Given the description of an element on the screen output the (x, y) to click on. 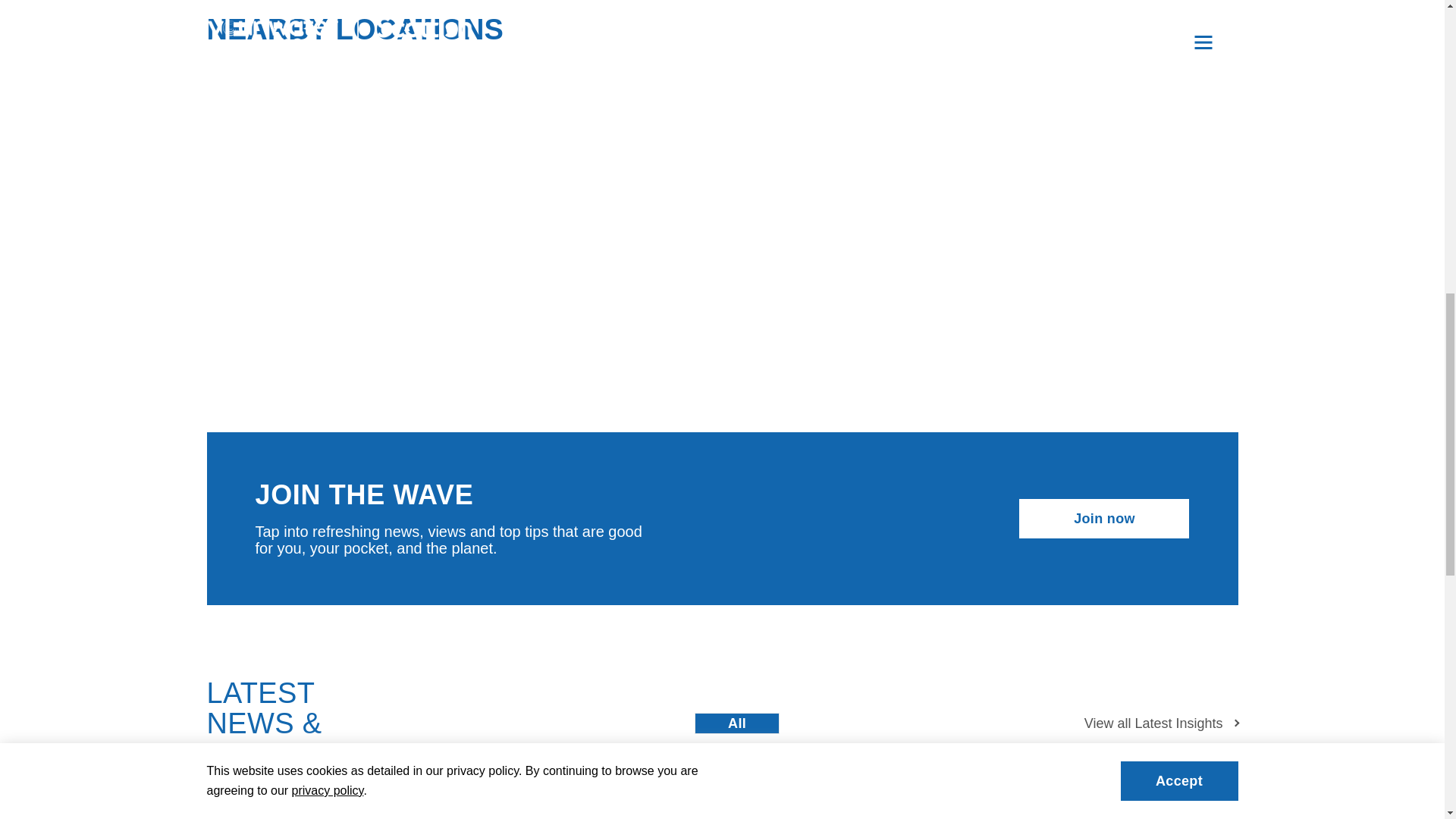
Photo by martin bennie on Unsplash (326, 806)
Join now (1104, 518)
View all Latest Insights (1161, 723)
